Given the description of an element on the screen output the (x, y) to click on. 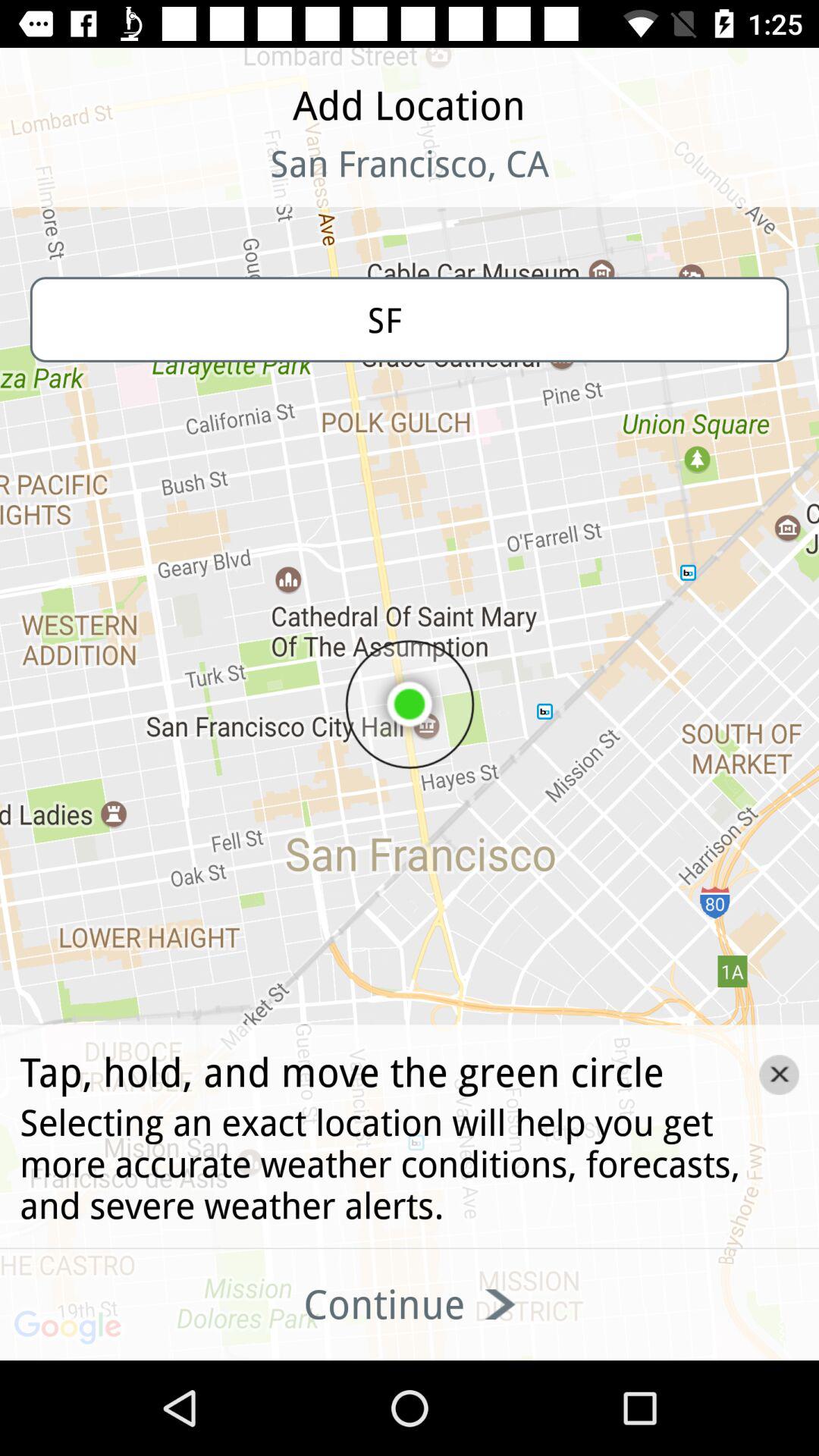
click item above tap hold and item (409, 319)
